Given the description of an element on the screen output the (x, y) to click on. 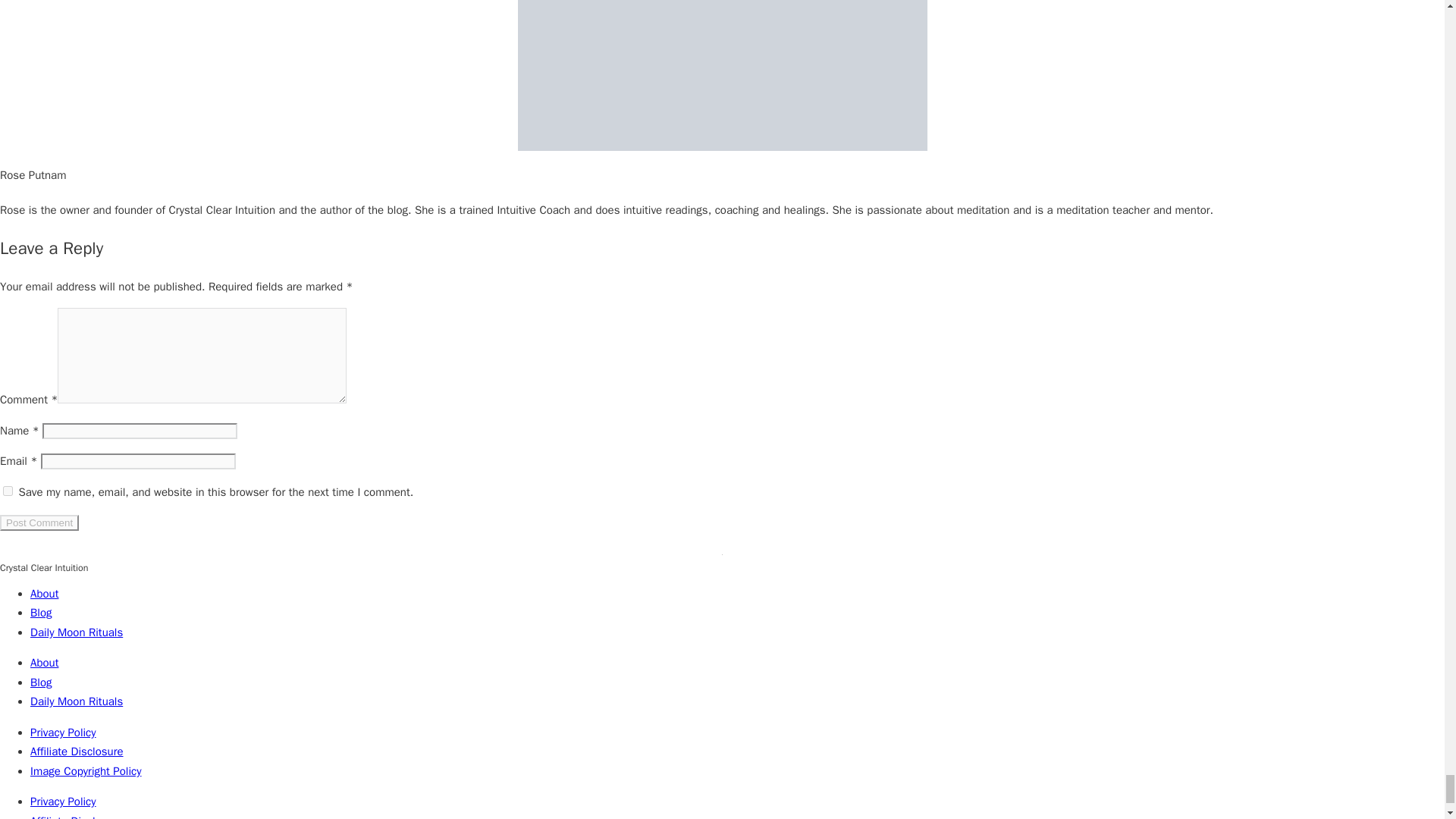
Post Comment (39, 522)
About (44, 593)
Privacy Policy (63, 732)
Privacy Policy (63, 801)
Daily Moon Rituals (76, 632)
Post Comment (39, 522)
Affiliate Disclosure (76, 751)
Affiliate Disclosure (76, 816)
About (44, 662)
Blog (40, 682)
